Given the description of an element on the screen output the (x, y) to click on. 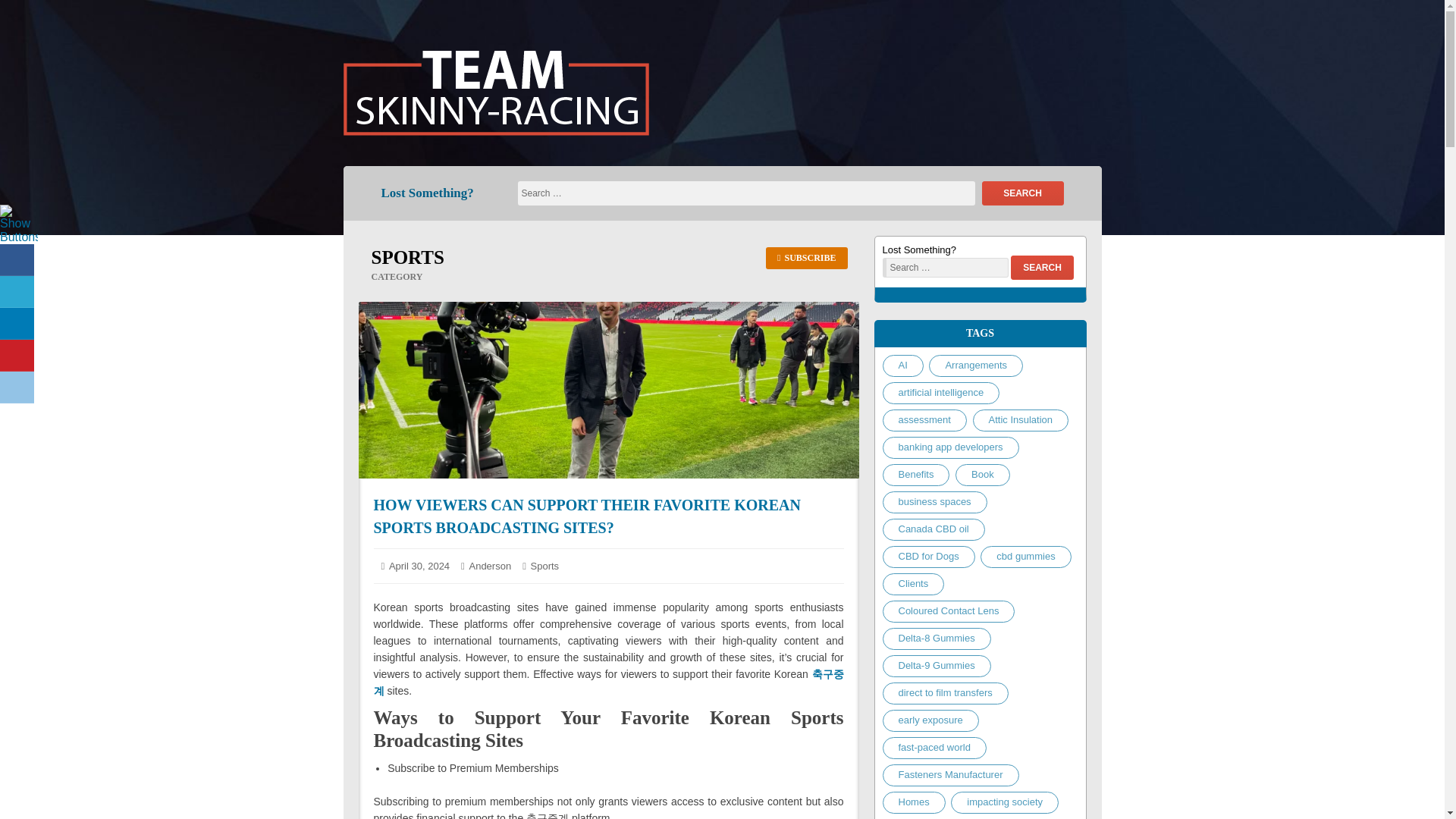
Delta-9 Gummies (936, 666)
Anderson (489, 565)
SEARCH (1021, 192)
Skip to content (19, 20)
Hide Buttons (18, 257)
Share On Reddit (16, 387)
Search (745, 192)
Sports (545, 565)
assessment (924, 420)
